Given the description of an element on the screen output the (x, y) to click on. 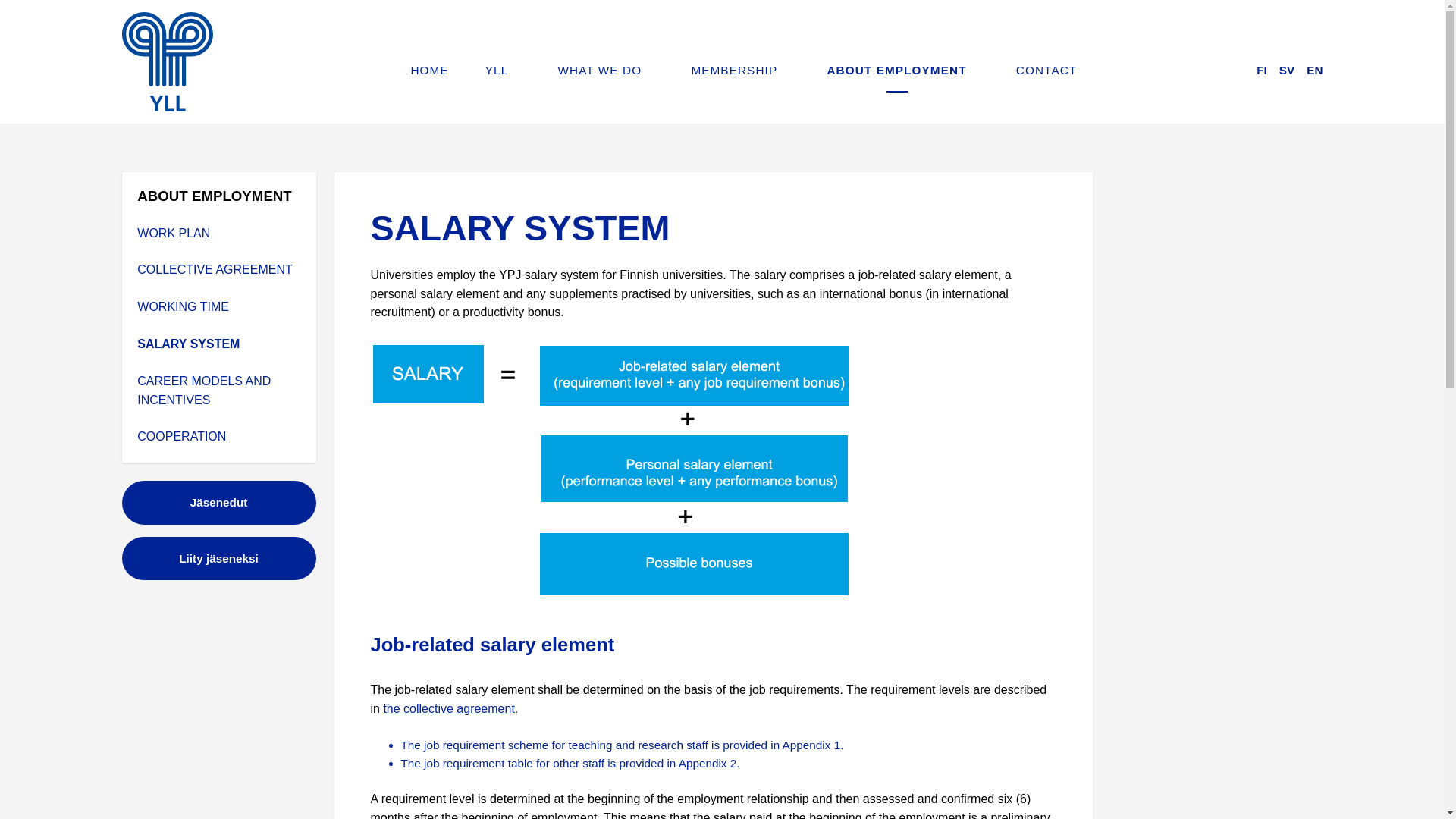
FB (1269, 33)
TW (1291, 33)
IG (1315, 33)
